Given the description of an element on the screen output the (x, y) to click on. 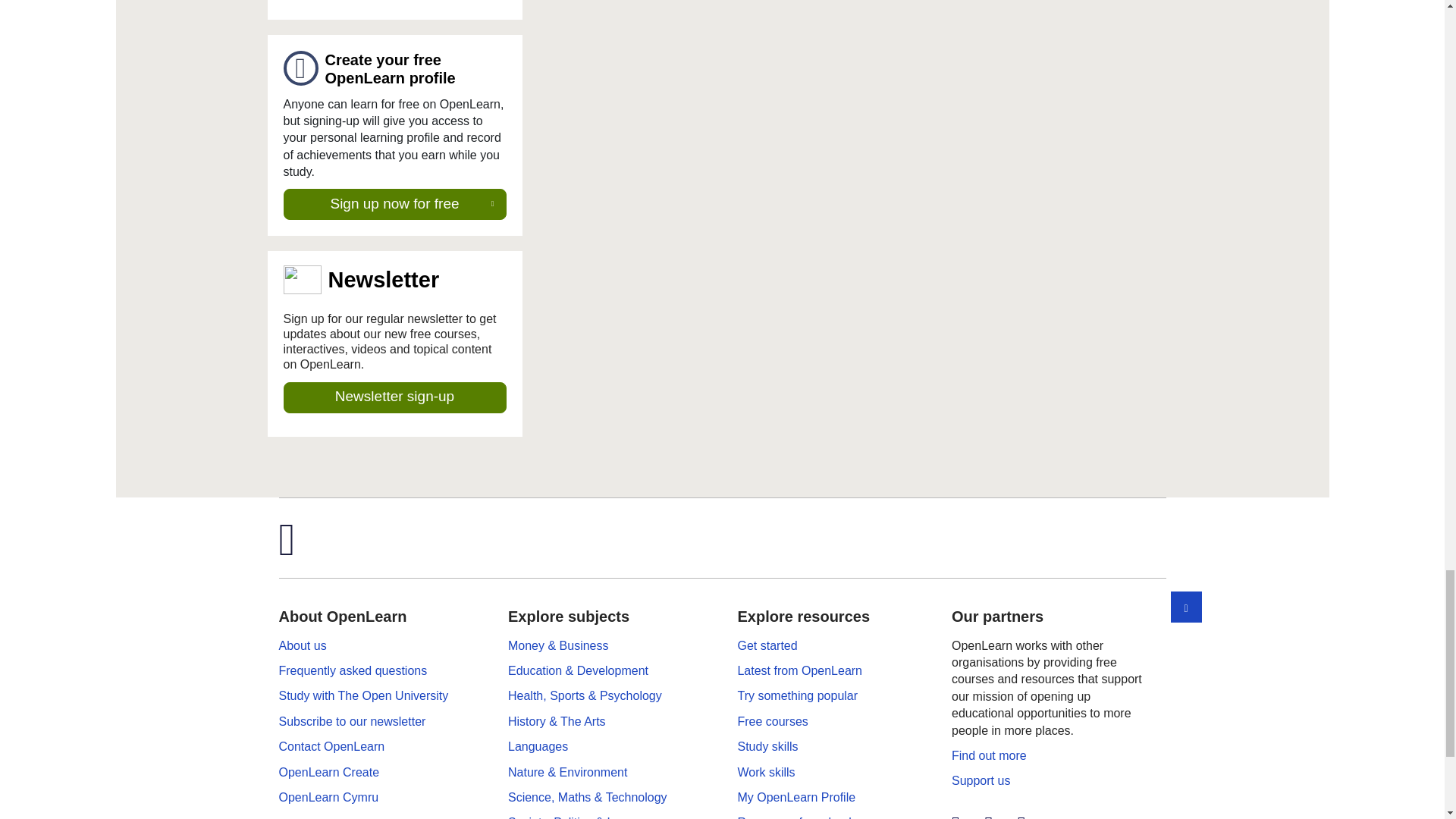
Sign up now for free (394, 204)
